Given the description of an element on the screen output the (x, y) to click on. 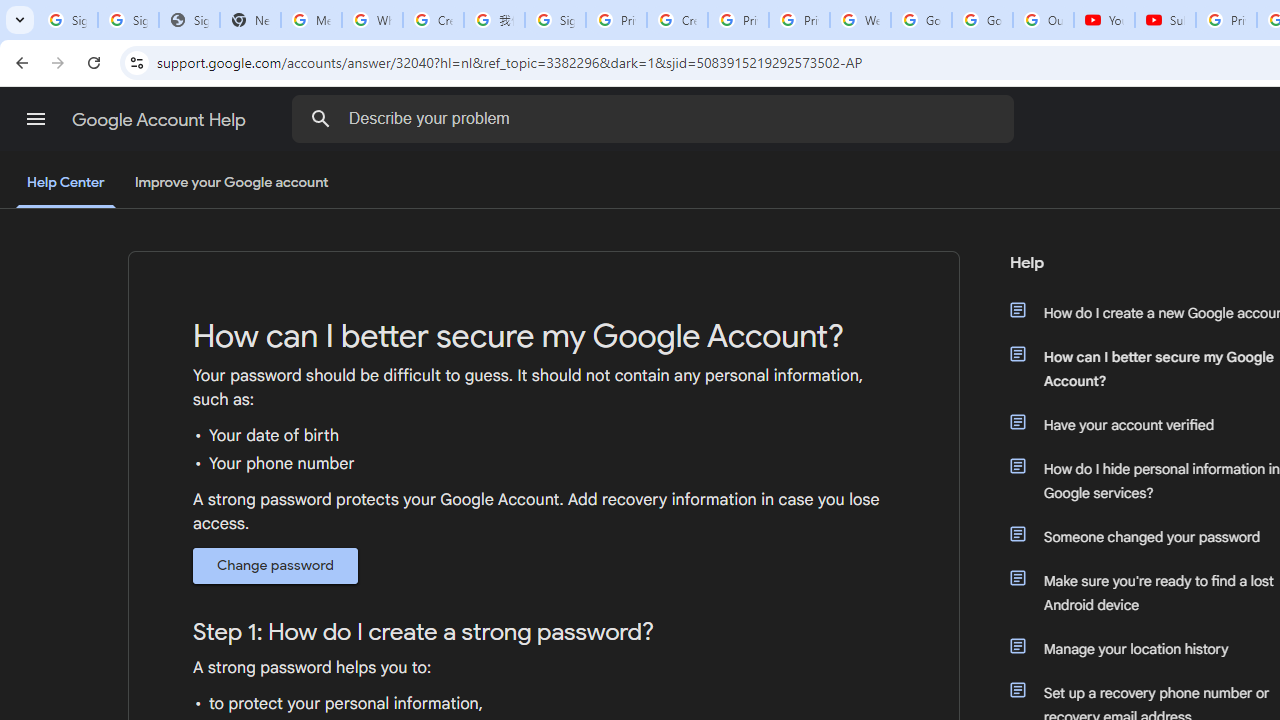
Improve your Google account (231, 183)
Subscriptions - YouTube (1165, 20)
Create your Google Account (433, 20)
Sign in - Google Accounts (555, 20)
Main menu (35, 119)
Welcome to My Activity (859, 20)
Sign in - Google Accounts (128, 20)
